Given the description of an element on the screen output the (x, y) to click on. 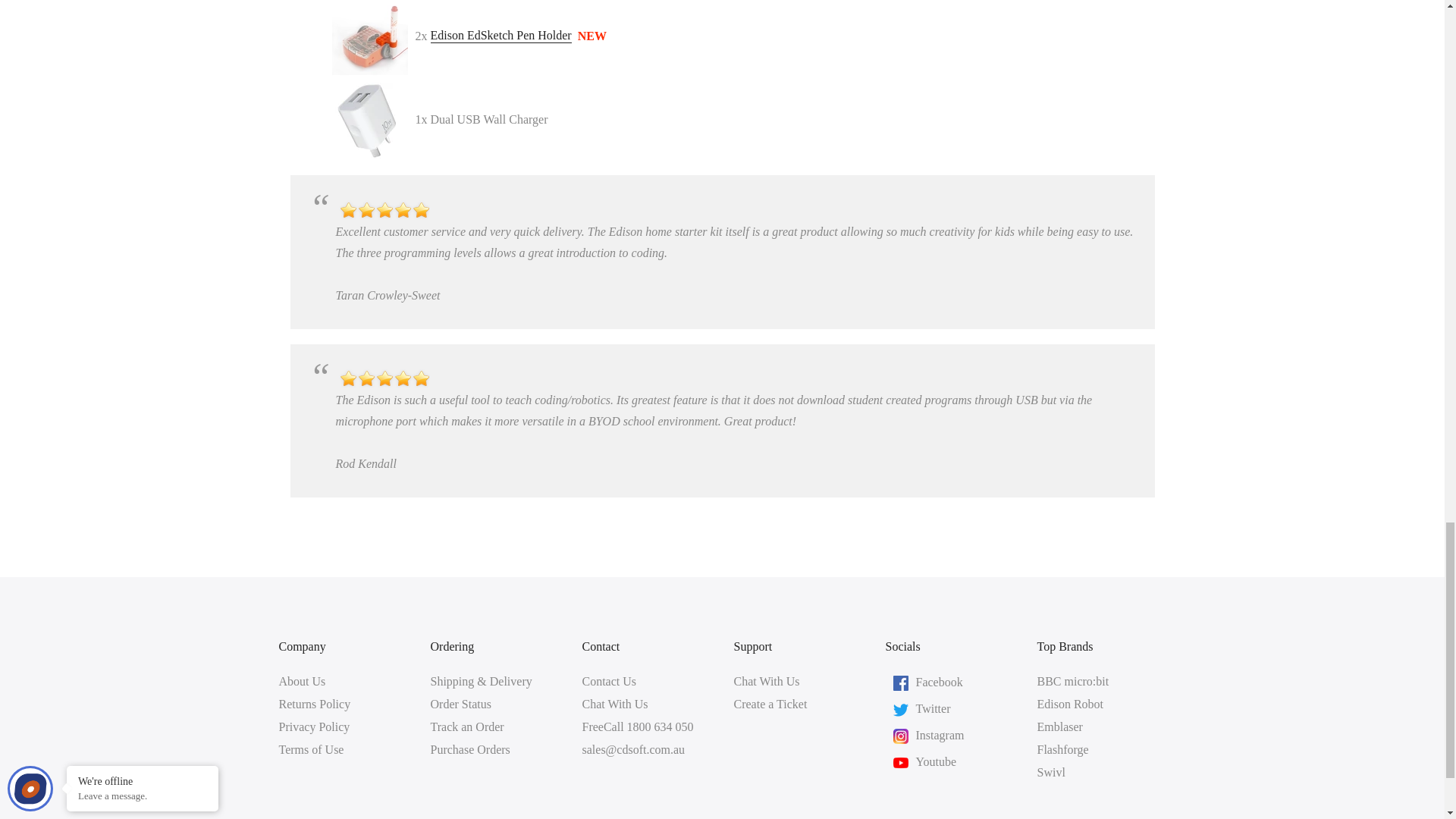
Twitter (932, 707)
Order Status (461, 703)
Chat With Us (766, 680)
Track an Order (466, 726)
Purchase Orders (470, 748)
AAA ULTRA Alkaline Batteries (501, 35)
Privacy Policy (314, 726)
About Us (302, 680)
Facebook (938, 680)
Create a Ticket (770, 703)
Instagram (939, 734)
Returns Policy (314, 703)
Terms of Use (311, 748)
